Given the description of an element on the screen output the (x, y) to click on. 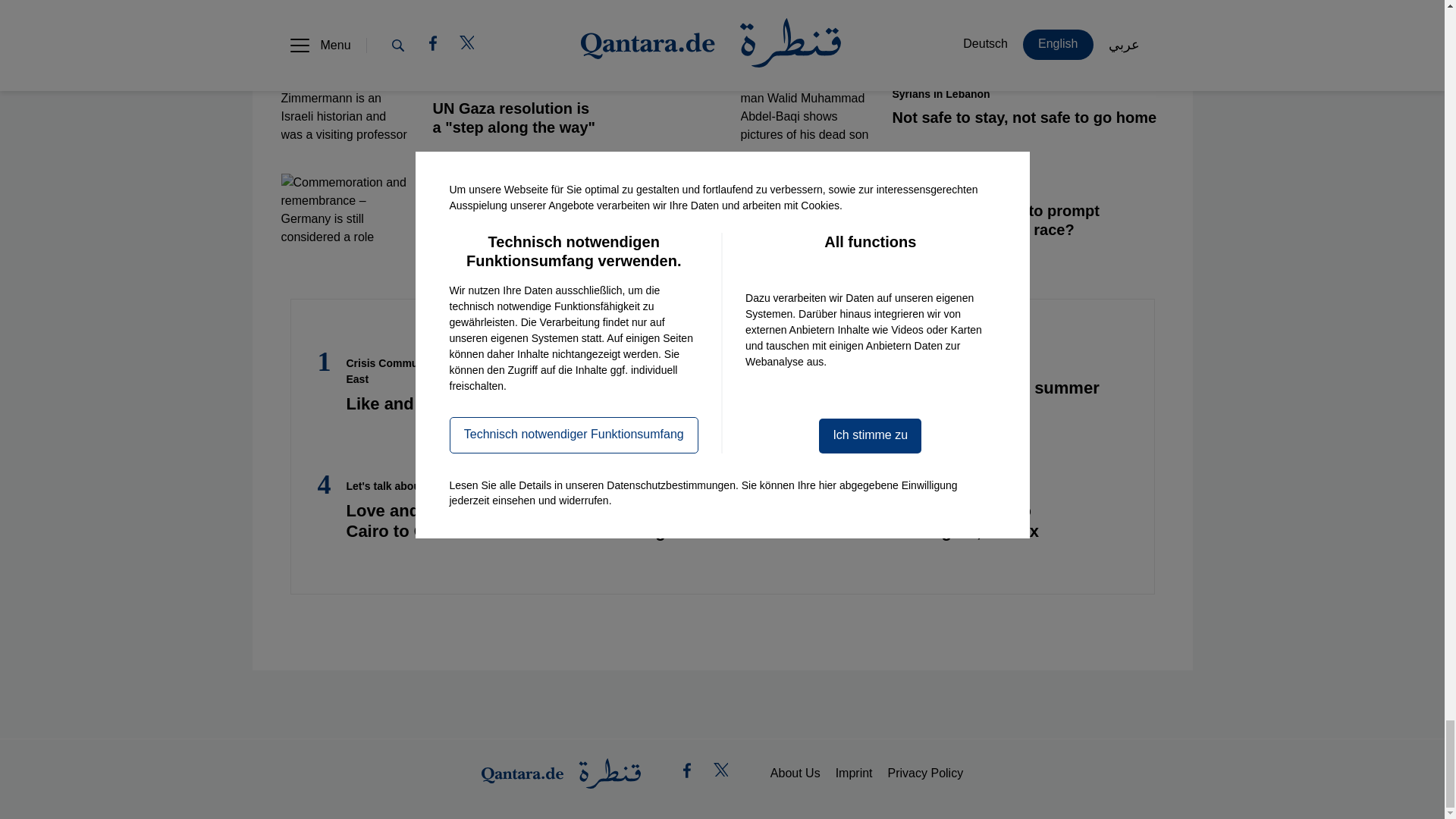
Home (560, 773)
Traffic chaos in the megacity of Karachi, Pakistan (804, 20)
View of the Kurdish town of Sulaymaniyah (345, 20)
Imprint (853, 773)
